Given the description of an element on the screen output the (x, y) to click on. 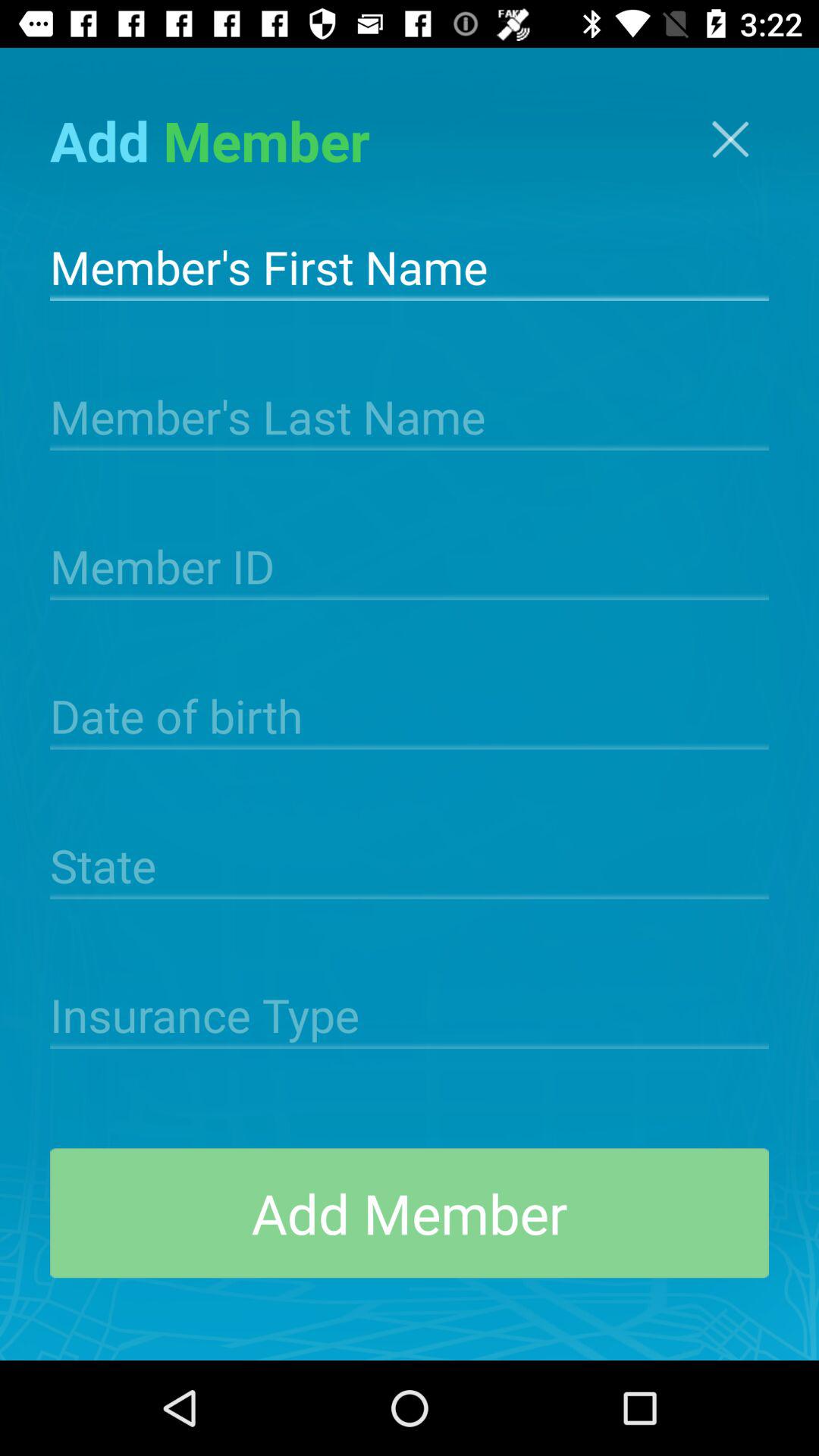
date of birth text field (409, 714)
